Given the description of an element on the screen output the (x, y) to click on. 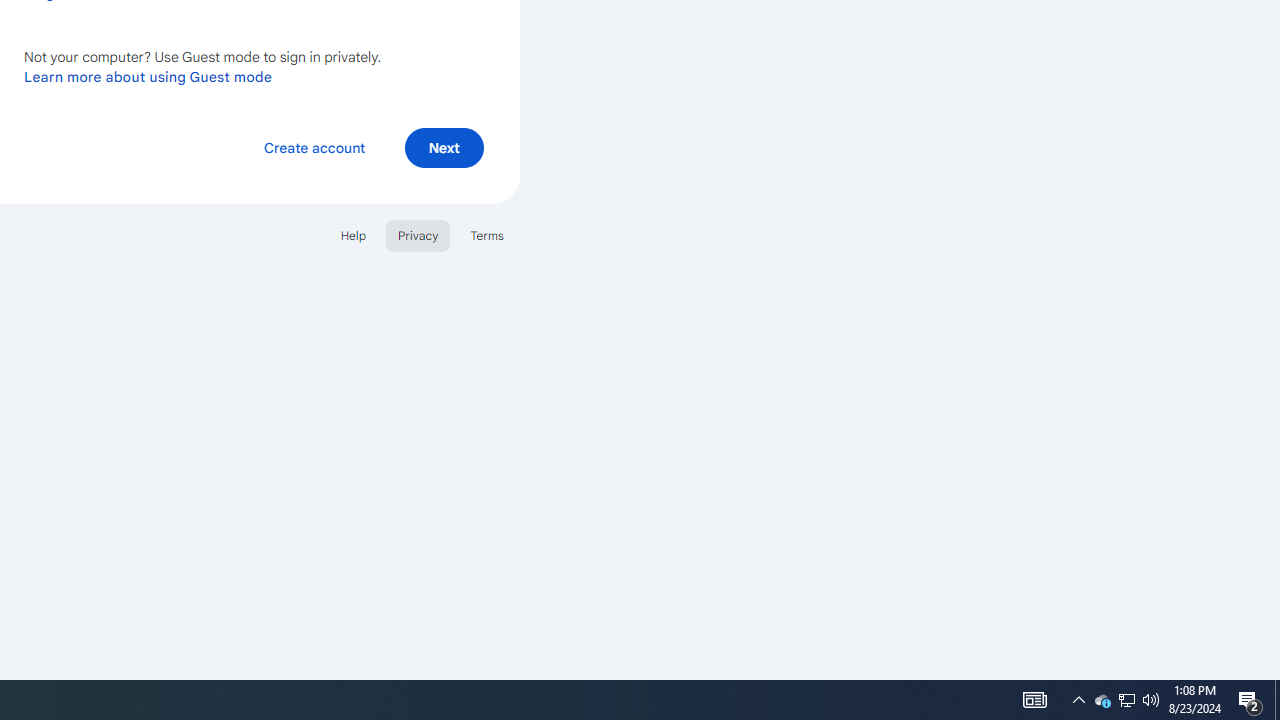
Terms (486, 234)
Next (443, 146)
Privacy (417, 234)
Learn more about using Guest mode (148, 76)
Help (352, 234)
Create account (314, 146)
